Given the description of an element on the screen output the (x, y) to click on. 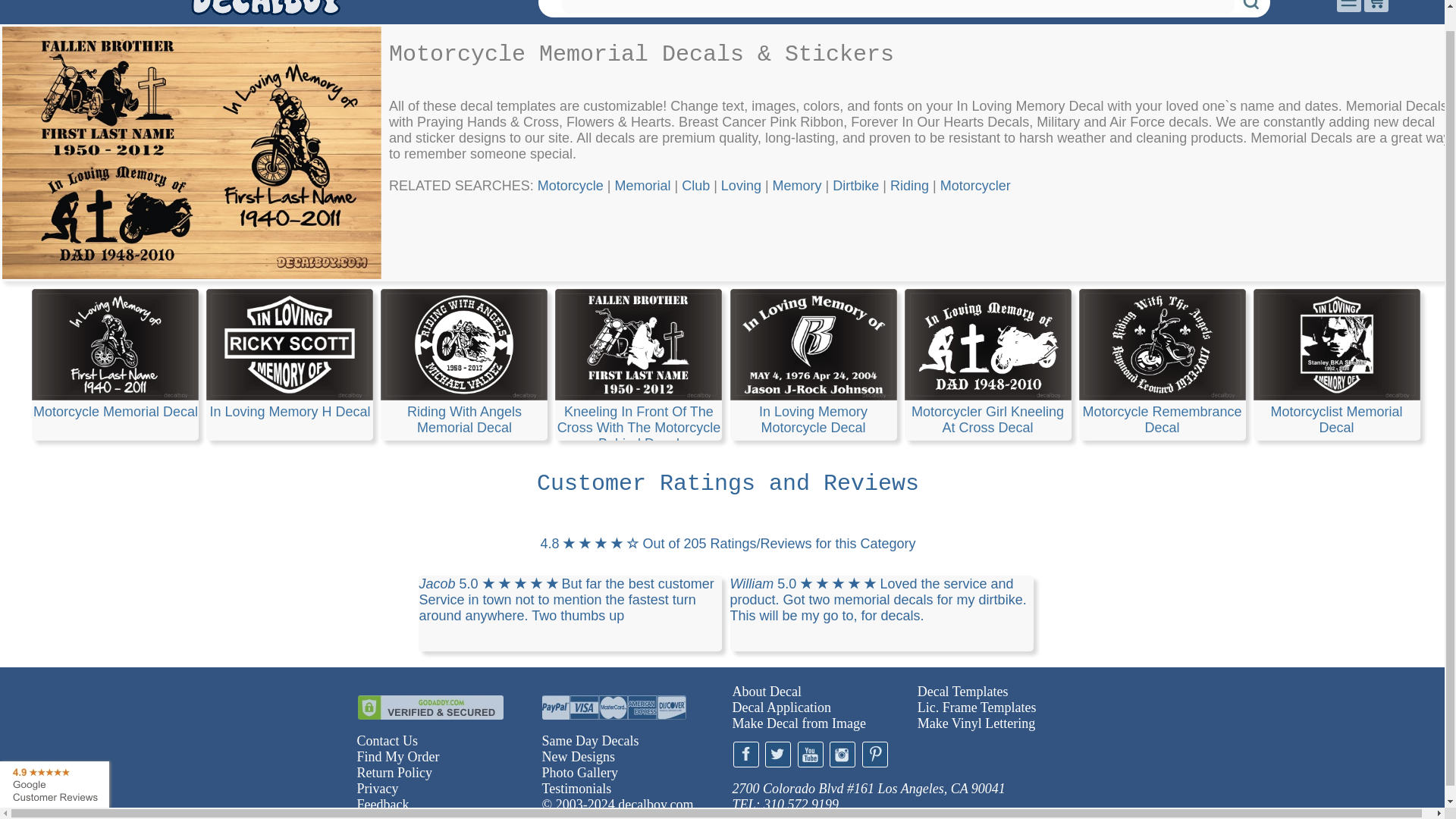
Instagram (842, 754)
Twitter (777, 754)
Facebook (745, 754)
YouTube (810, 754)
Pinterest (873, 754)
